Given the description of an element on the screen output the (x, y) to click on. 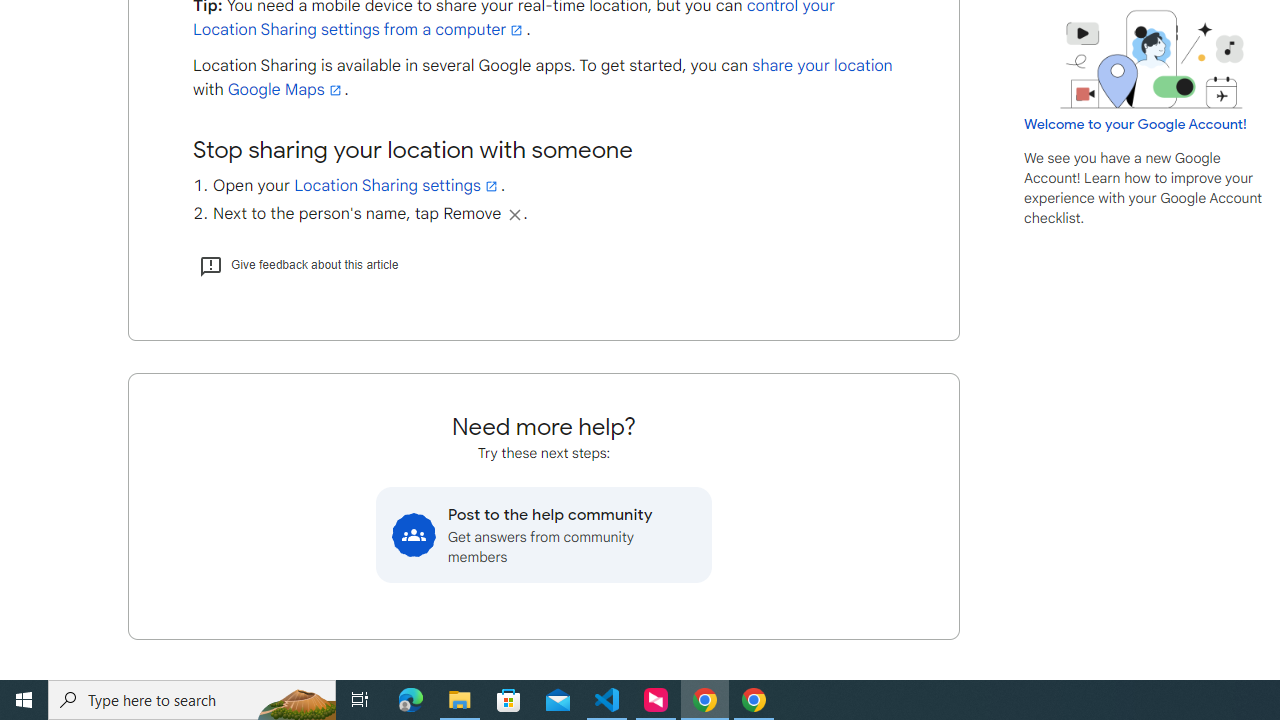
Give feedback about this article (298, 264)
Welcome to your Google Account! (1135, 124)
Google Maps (285, 89)
Learning Center home page image (1152, 59)
